Given the description of an element on the screen output the (x, y) to click on. 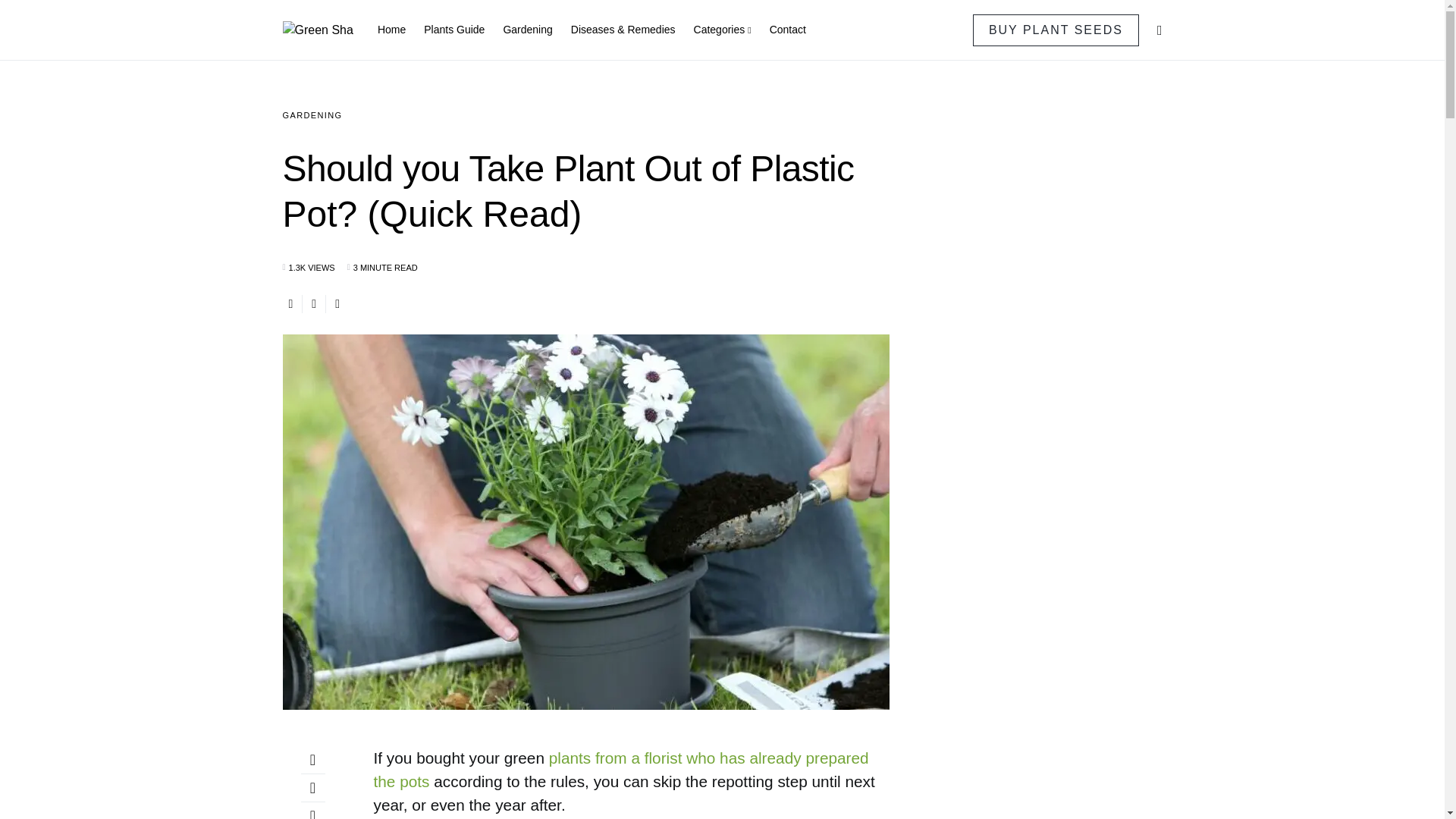
plants from a florist who has already prepared the pots (619, 769)
Gardening (526, 30)
Plants Guide (453, 30)
BUY PLANT SEEDS (1055, 29)
Categories (722, 30)
GARDENING (312, 114)
